Given the description of an element on the screen output the (x, y) to click on. 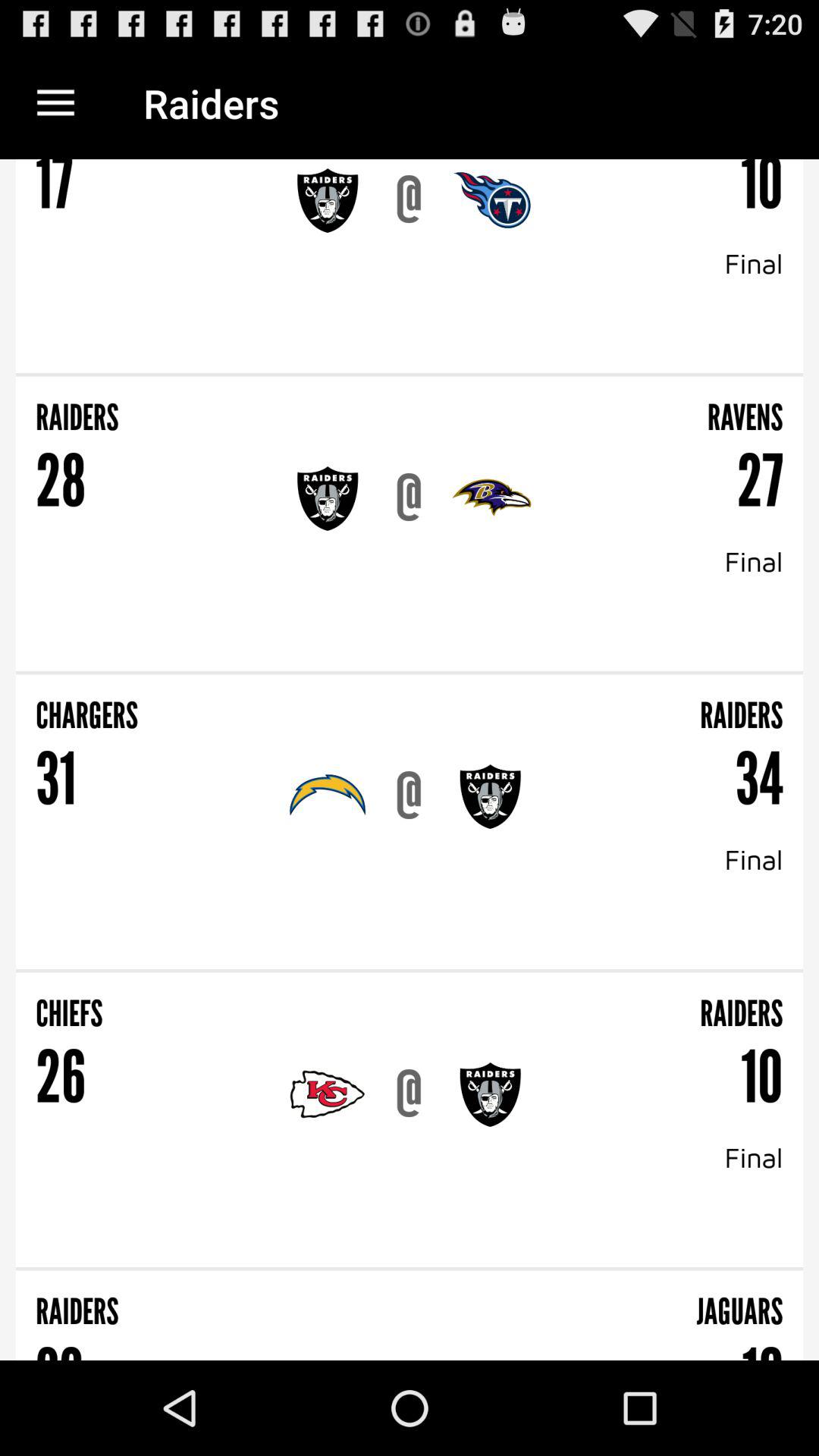
click item next to raiders (227, 705)
